Given the description of an element on the screen output the (x, y) to click on. 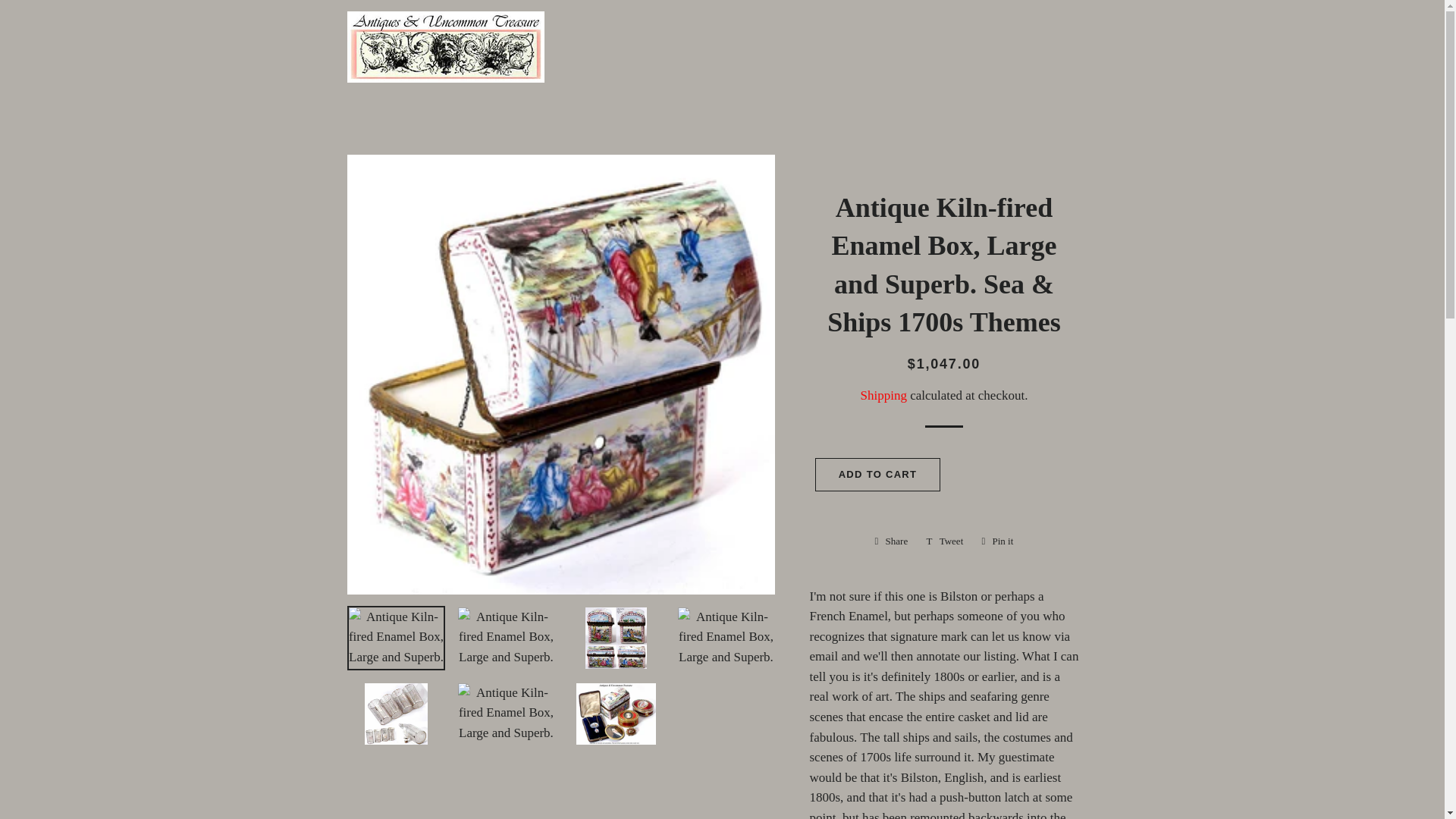
Tweet on Twitter (944, 540)
Pin on Pinterest (997, 540)
Share on Facebook (891, 540)
ADD TO CART (997, 540)
Shipping (891, 540)
